Given the description of an element on the screen output the (x, y) to click on. 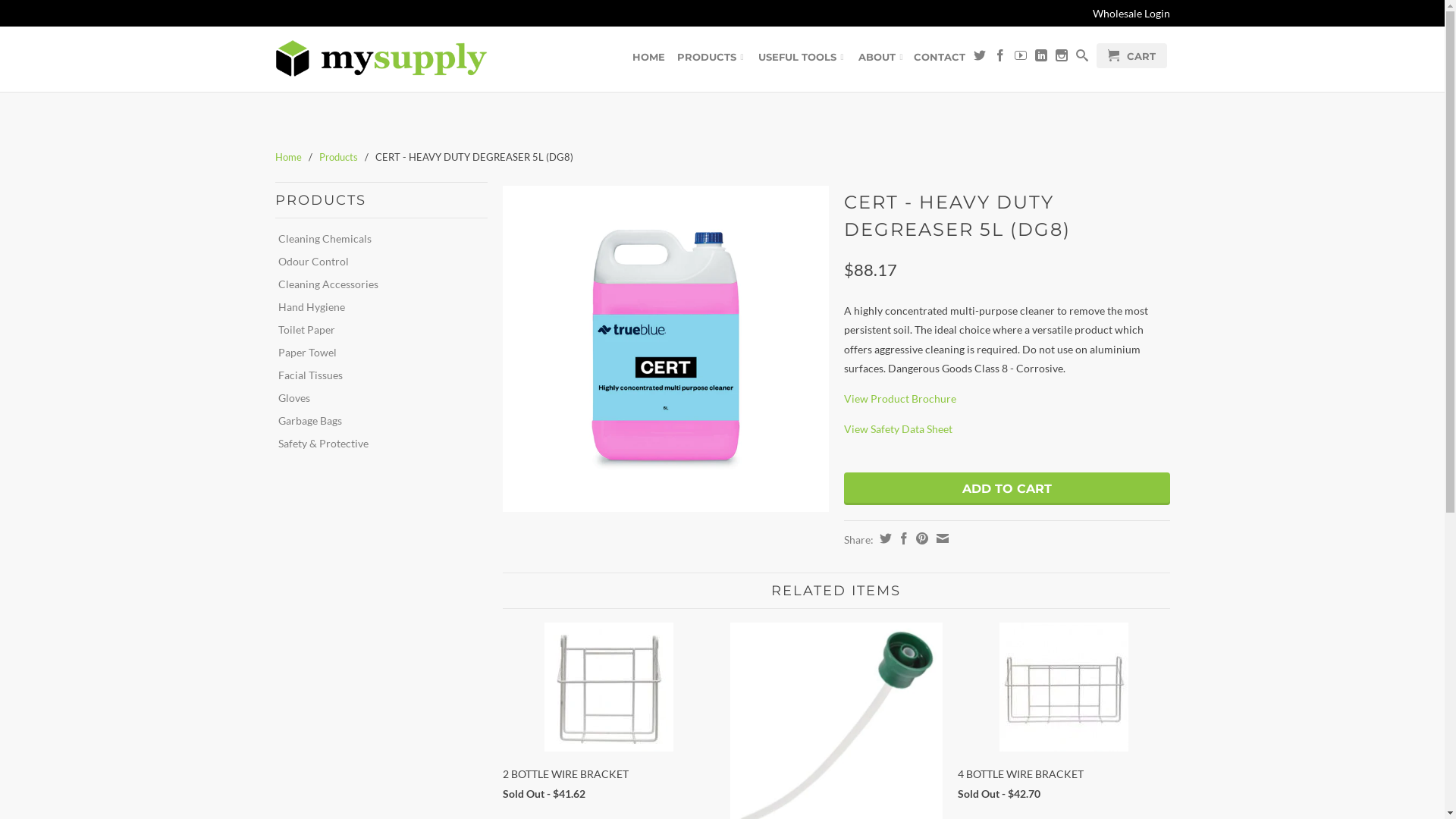
Hand Hygiene Element type: text (374, 306)
Safety & Protective Element type: text (374, 443)
Cleaning Accessories Element type: text (374, 284)
HOME Element type: text (648, 59)
Facial Tissues Element type: text (374, 375)
mysupply on Facebook Element type: hover (999, 58)
mysupply on YouTube Element type: hover (1020, 58)
Add to Cart Element type: text (1006, 488)
View Safety Data Sheet Element type: text (897, 428)
mysupply Element type: hover (380, 58)
Home Element type: text (287, 156)
Garbage Bags Element type: text (374, 420)
Toilet Paper Element type: text (374, 329)
View Product Brochure Element type: text (899, 398)
Cleaning Chemicals Element type: text (374, 238)
Email this to a friend Element type: hover (940, 538)
Share this on Facebook Element type: hover (901, 538)
mysupply on Instagram Element type: hover (1061, 58)
mysupply on LinkedIn Element type: hover (1040, 58)
4 BOTTLE WIRE BRACKET
Sold Out - $42.70 Element type: text (1063, 715)
Wholesale Login Element type: text (1130, 12)
CERT - HEAVY DUTY DEGREASER 5L (DG8) Element type: hover (665, 348)
CONTACT Element type: text (938, 59)
Share this on Twitter Element type: hover (883, 538)
Paper Towel Element type: text (374, 352)
CART Element type: text (1131, 55)
Products Element type: text (337, 156)
Search Element type: hover (1081, 58)
Odour Control Element type: text (374, 261)
mysupply on Twitter Element type: hover (979, 58)
2 BOTTLE WIRE BRACKET
Sold Out - $41.62 Element type: text (608, 715)
Gloves Element type: text (374, 397)
Share this on Pinterest Element type: hover (919, 538)
